Given the description of an element on the screen output the (x, y) to click on. 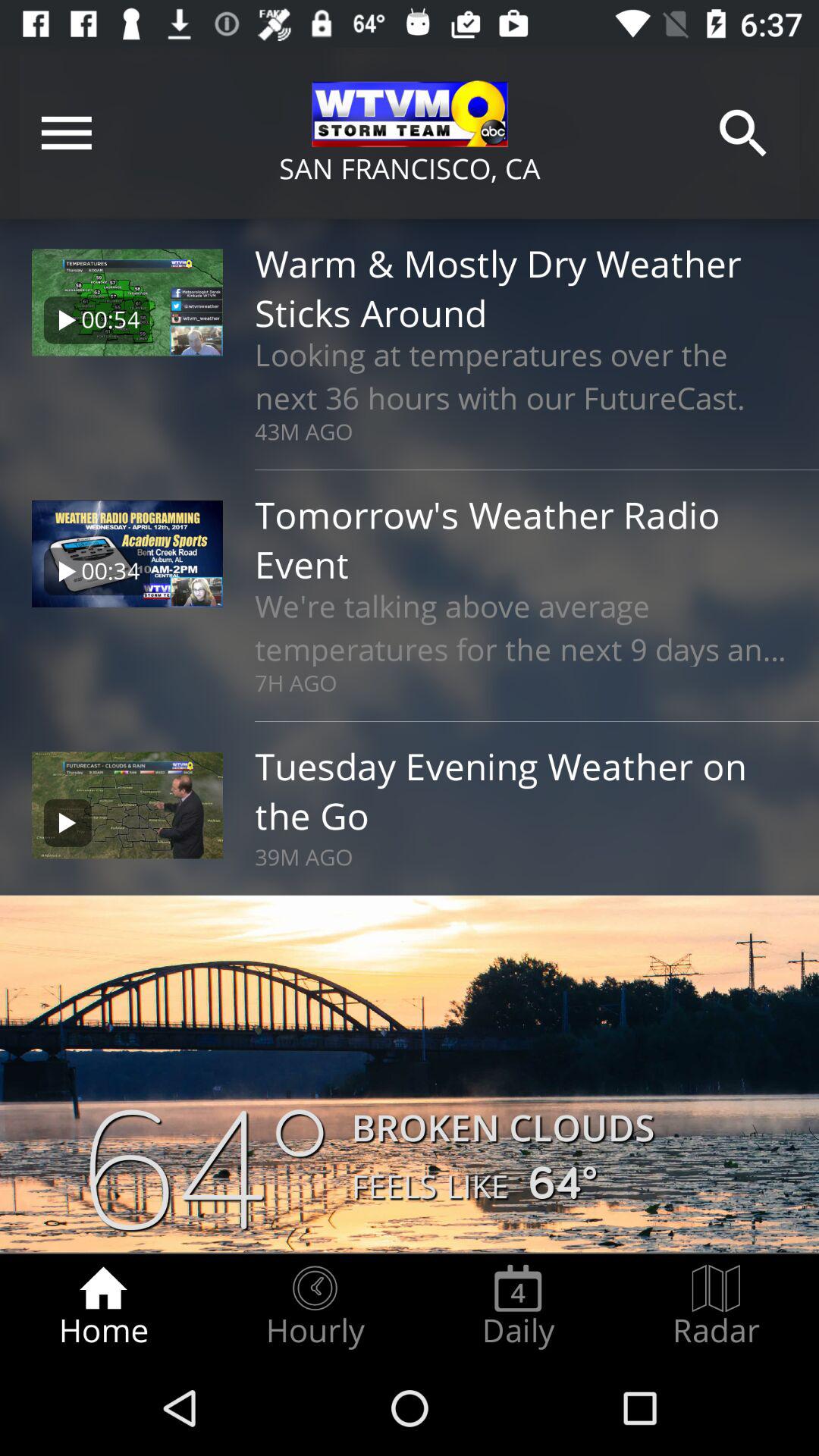
click icon to the right of daily item (716, 1307)
